Given the description of an element on the screen output the (x, y) to click on. 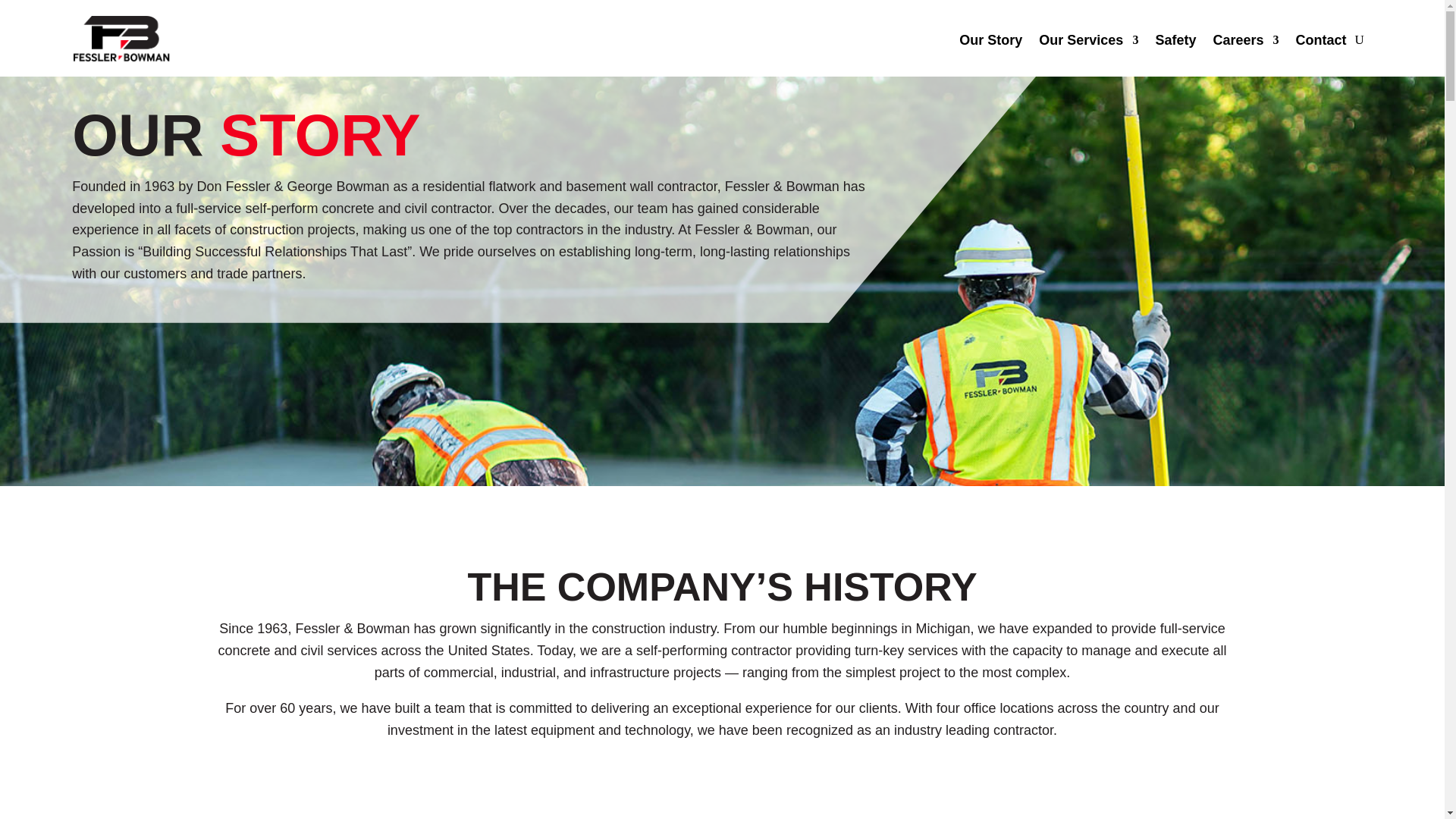
Careers (1245, 39)
Our Story (990, 39)
Our Services (1088, 39)
